Given the description of an element on the screen output the (x, y) to click on. 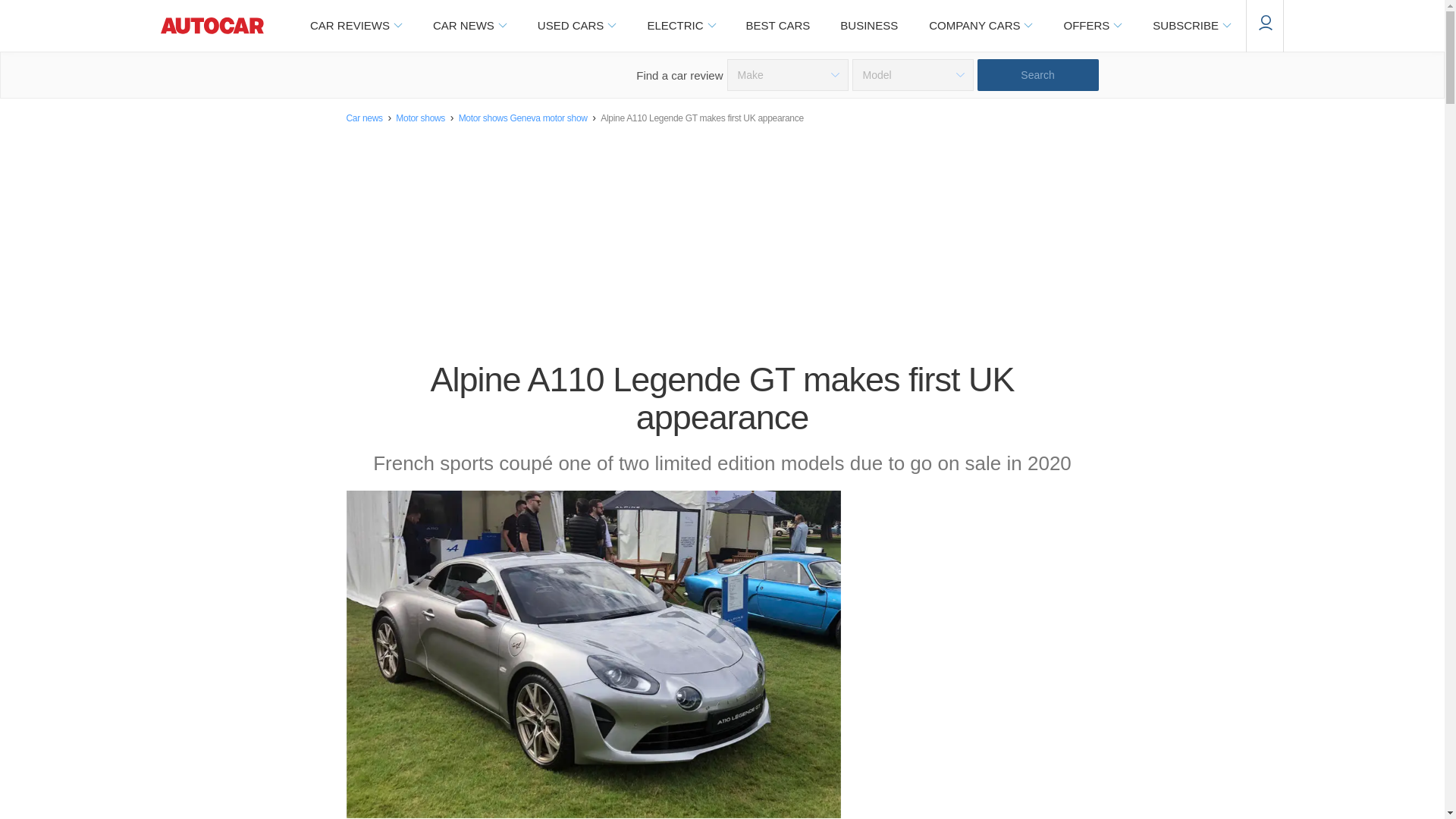
ELECTRIC (680, 26)
Autocar Electric (680, 26)
Autocar Business news, insight and opinion (868, 26)
CAR NEWS (468, 26)
SUBSCRIBE (1191, 26)
Top 10 cars by segment (777, 26)
USED CARS (576, 26)
Search (1036, 74)
CAR REVIEWS (355, 26)
Home (211, 25)
